Given the description of an element on the screen output the (x, y) to click on. 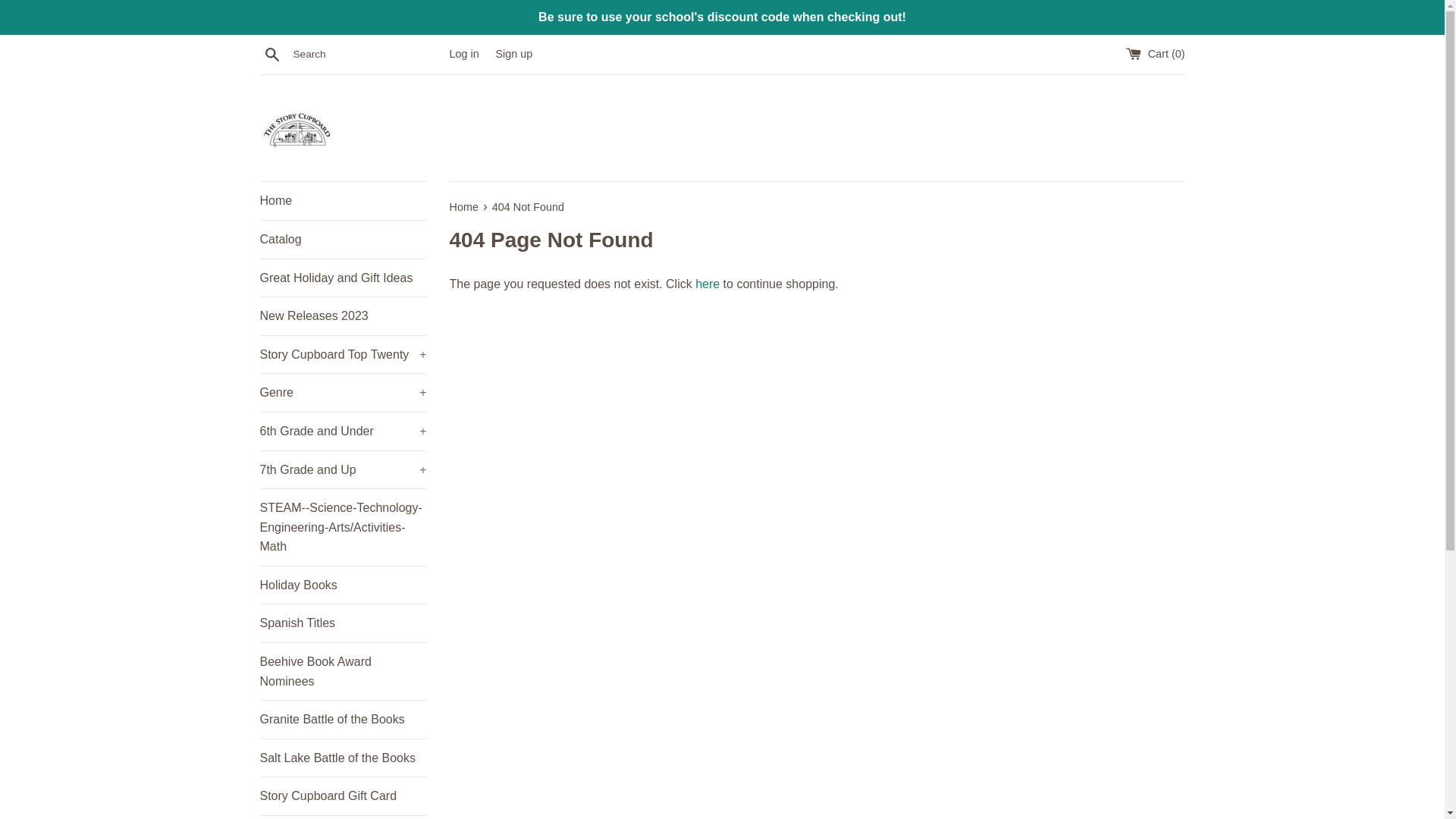
Back to the frontpage (464, 206)
Home (342, 200)
Sign up (513, 53)
Log in (463, 53)
Search (271, 53)
New Releases 2023 (342, 315)
Catalog (342, 239)
Great Holiday and Gift Ideas (342, 278)
